Given the description of an element on the screen output the (x, y) to click on. 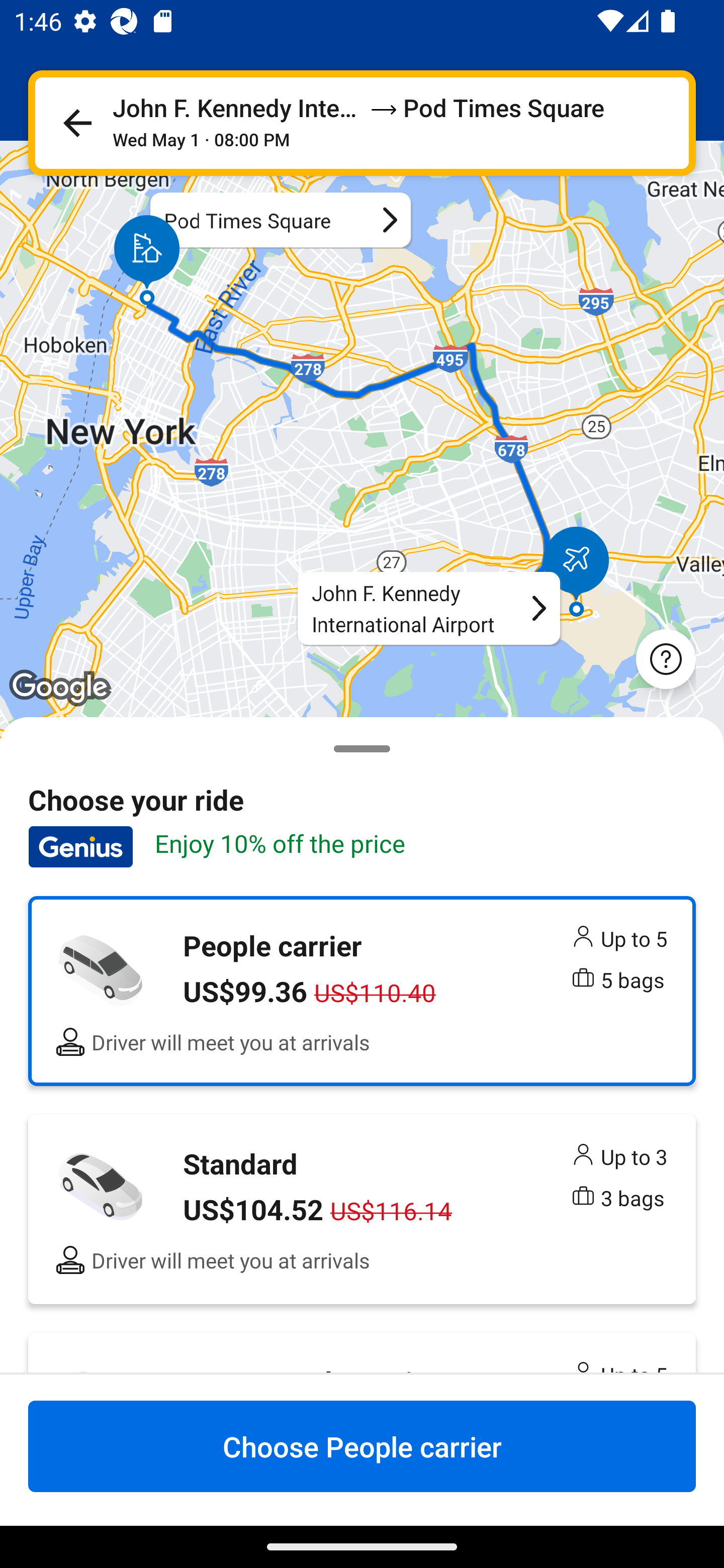
Back (77, 122)
Help center (665, 658)
Choose People carrier (361, 1446)
